Given the description of an element on the screen output the (x, y) to click on. 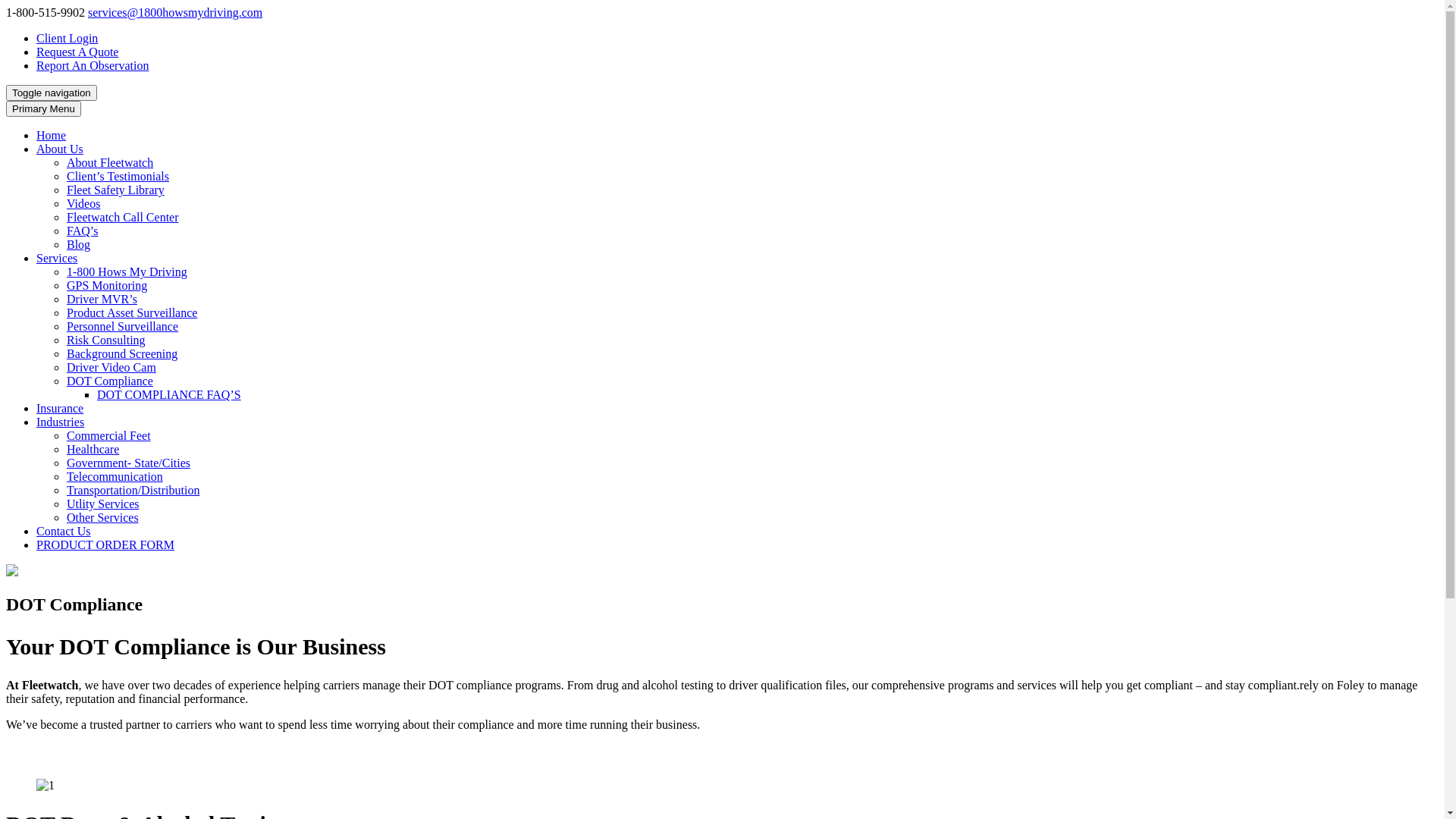
Fleet Safety Library Element type: text (115, 189)
Telecommunication Element type: text (114, 476)
Toggle navigation Element type: text (51, 92)
Insurance Element type: text (59, 407)
Healthcare Element type: text (92, 448)
services@1800howsmydriving.com Element type: text (174, 12)
DOT Compliance Element type: text (109, 380)
Contact Us Element type: text (63, 530)
Primary Menu Element type: text (43, 108)
Government- State/Cities Element type: text (128, 462)
Background Screening Element type: text (121, 353)
About Us Element type: text (59, 148)
GPS Monitoring Element type: text (106, 285)
Other Services Element type: text (102, 517)
Driver Video Cam Element type: text (111, 366)
Industries Element type: text (60, 421)
Personnel Surveillance Element type: text (122, 326)
Report An Observation Element type: text (92, 65)
1-800 Hows My Driving Element type: text (126, 271)
About Fleetwatch Element type: text (109, 162)
Videos Element type: text (83, 203)
Risk Consulting Element type: text (105, 339)
PRODUCT ORDER FORM Element type: text (105, 544)
Home Element type: text (50, 134)
Services Element type: text (56, 257)
Product Asset Surveillance Element type: text (131, 312)
Client Login Element type: text (66, 37)
Request A Quote Element type: text (77, 51)
Commercial Feet Element type: text (108, 435)
Fleetwatch Call Center Element type: text (122, 216)
Utlity Services Element type: text (102, 503)
Transportation/Distribution Element type: text (132, 489)
Blog Element type: text (78, 244)
